Given the description of an element on the screen output the (x, y) to click on. 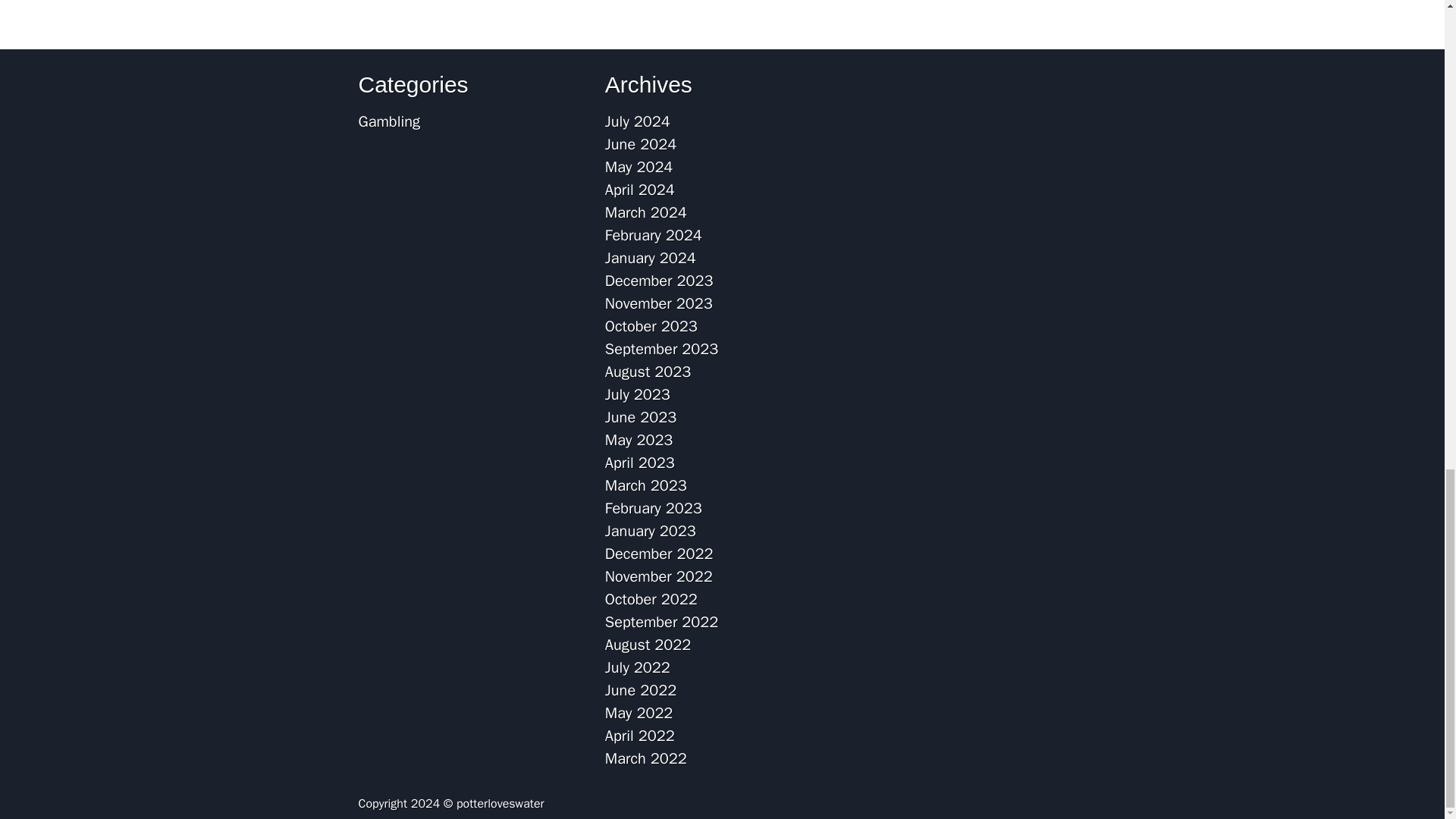
June 2023 (641, 416)
January 2023 (650, 530)
September 2022 (661, 621)
May 2022 (638, 712)
June 2022 (641, 690)
December 2022 (659, 553)
January 2024 (650, 257)
October 2023 (651, 325)
March 2024 (646, 212)
September 2023 (661, 348)
December 2023 (659, 280)
October 2022 (651, 599)
April 2022 (640, 735)
April 2023 (640, 462)
July 2022 (637, 667)
